Given the description of an element on the screen output the (x, y) to click on. 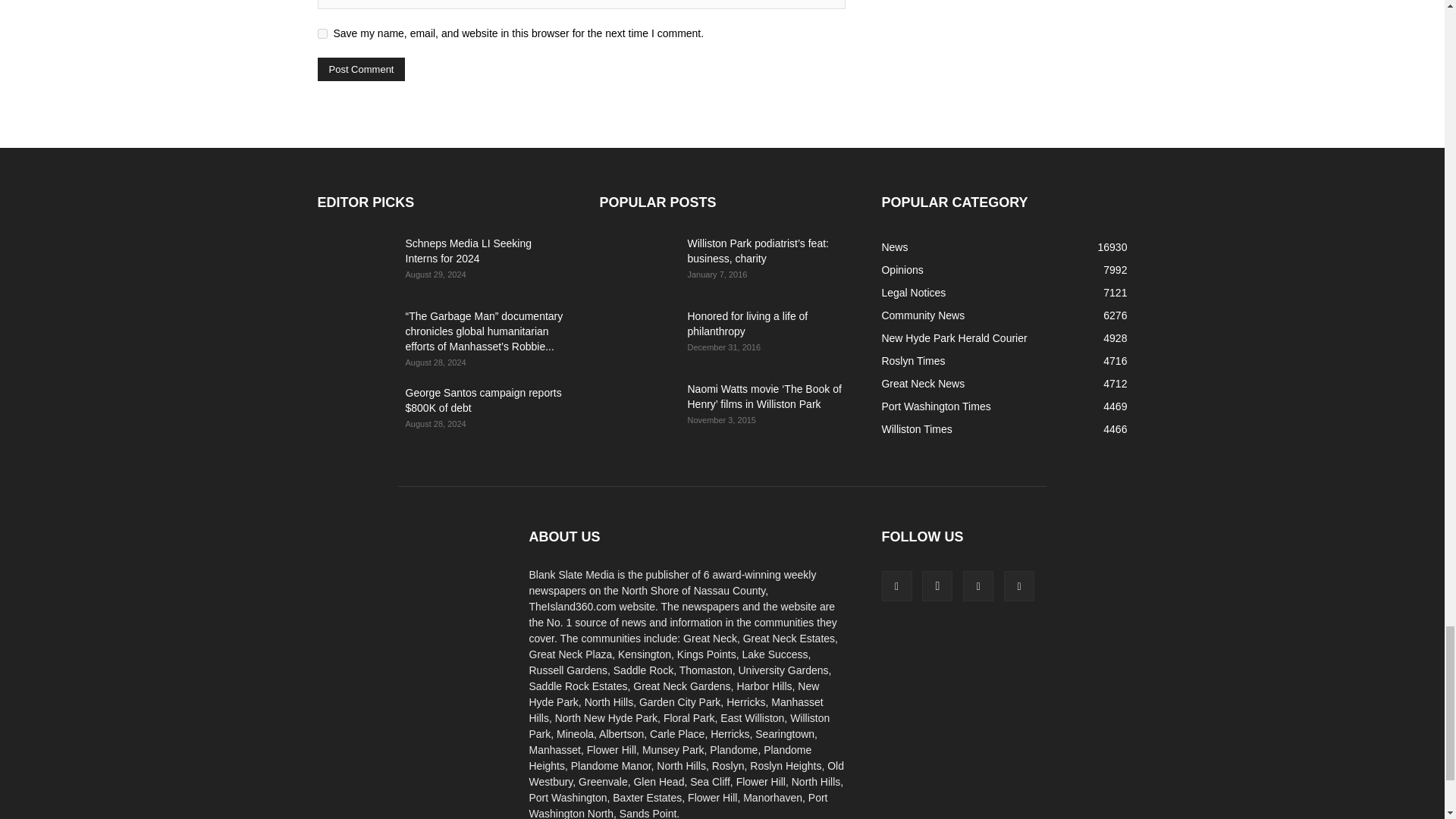
Post Comment (360, 69)
Schneps Media LI Seeking Interns for 2024 (467, 250)
Schneps Media LI Seeking Interns for 2024 (355, 262)
yes (321, 33)
